Given the description of an element on the screen output the (x, y) to click on. 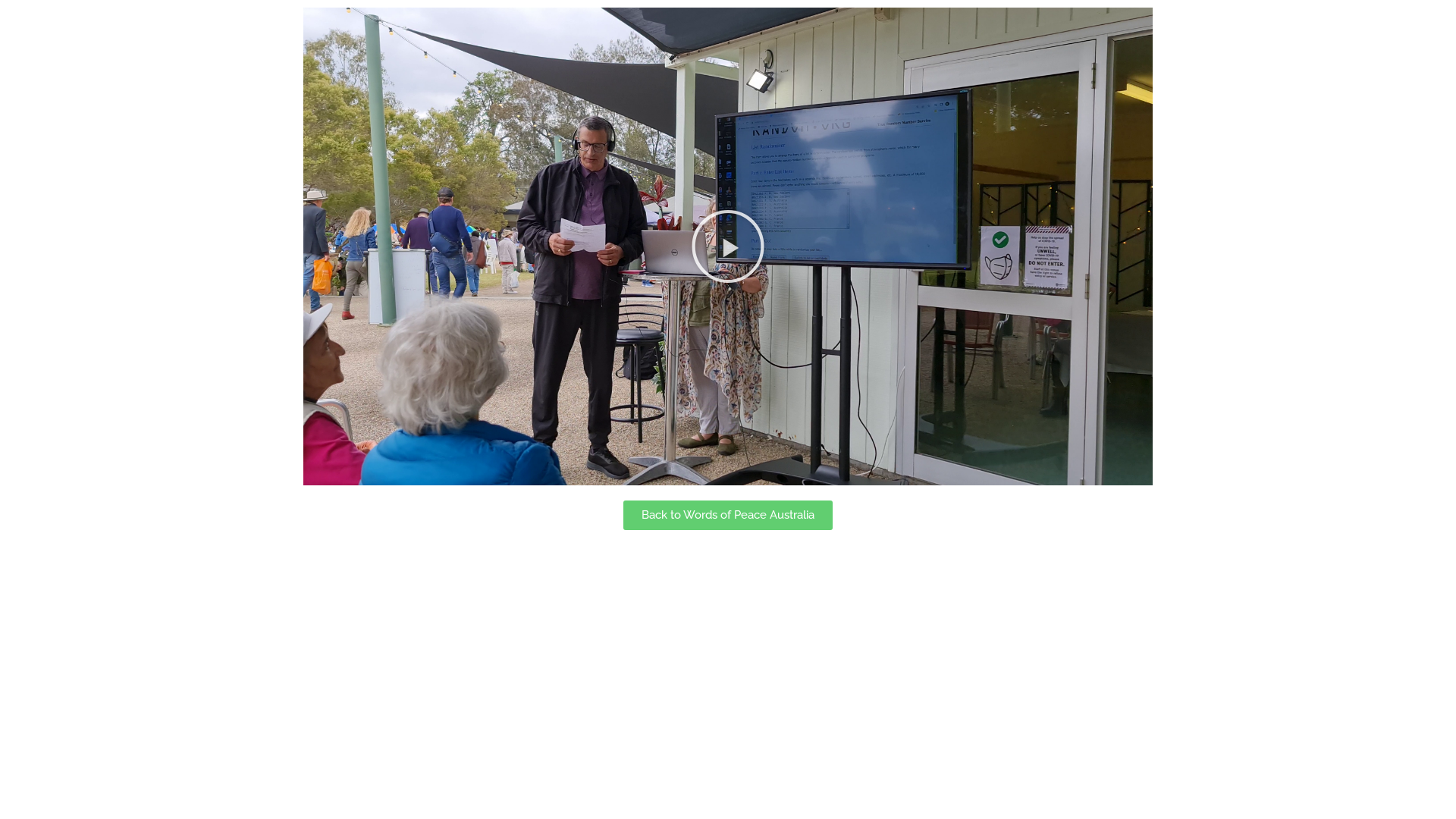
Back to Words of Peace Australia Element type: text (727, 515)
